Given the description of an element on the screen output the (x, y) to click on. 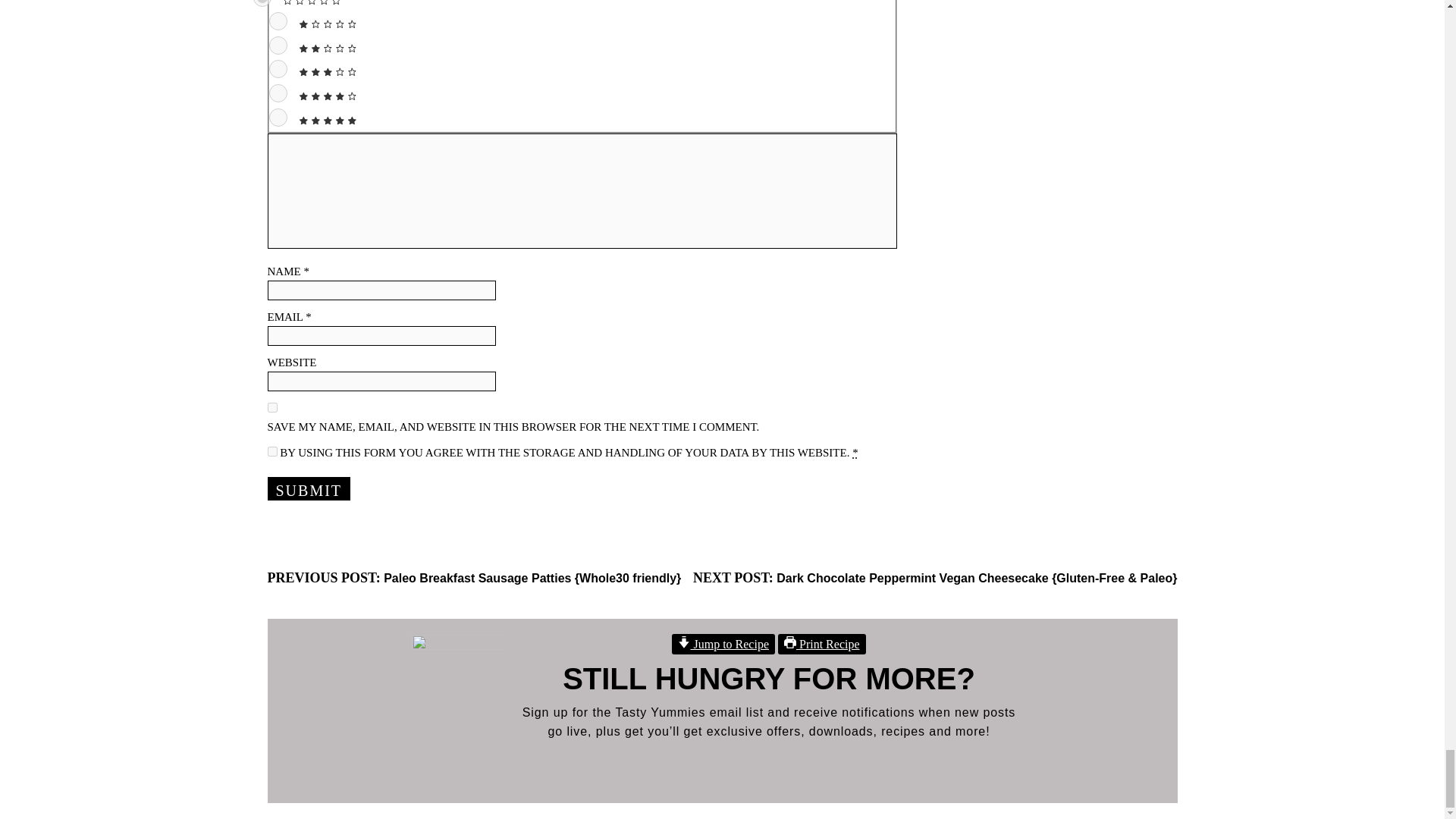
yes (271, 407)
1 (271, 451)
0 (261, 3)
1 (276, 21)
SUBMIT (308, 488)
5 (276, 117)
4 (276, 93)
3 (276, 68)
2 (276, 45)
